Given the description of an element on the screen output the (x, y) to click on. 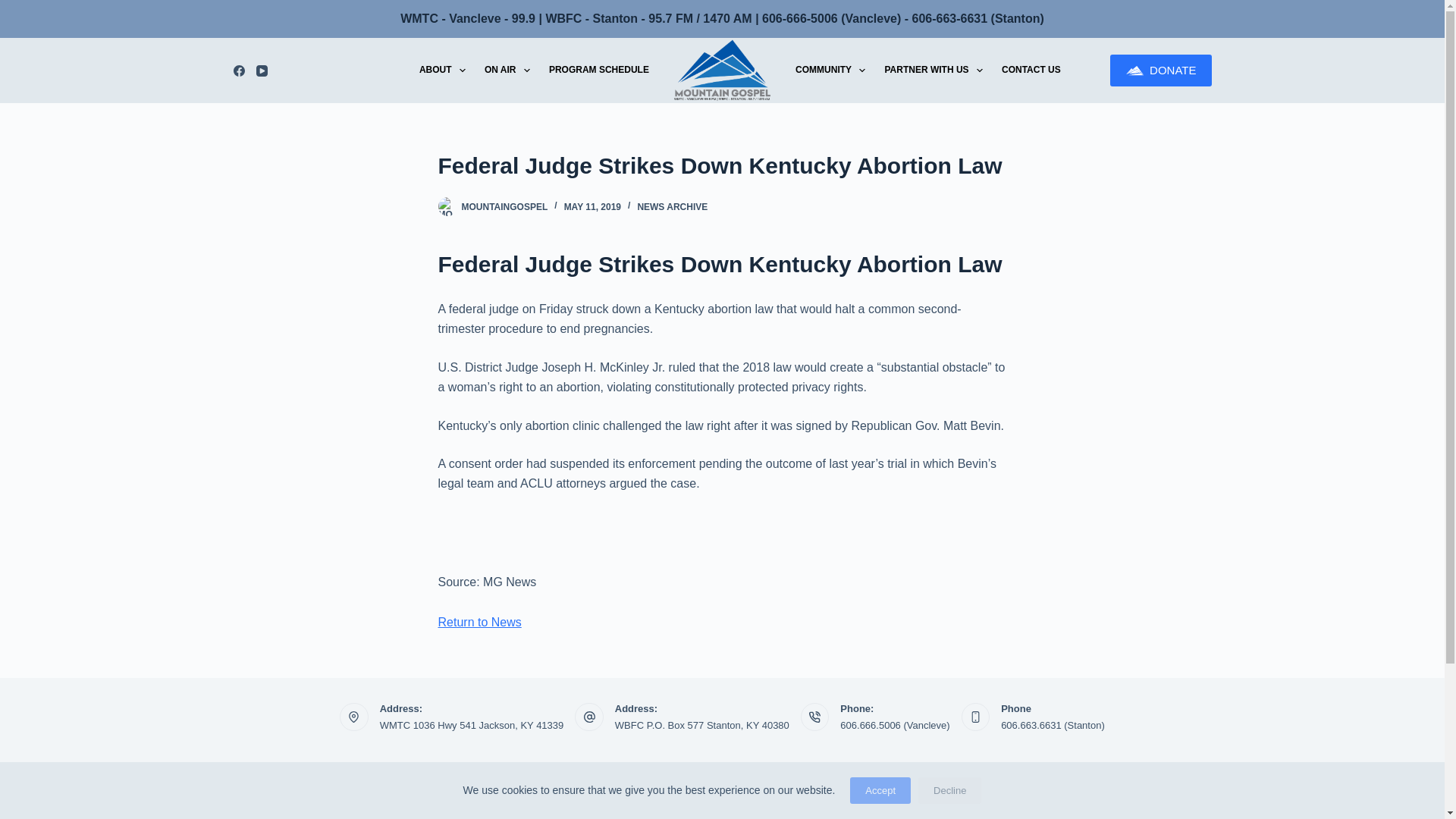
ABOUT (441, 70)
Return to News (479, 621)
PROGRAM SCHEDULE (598, 70)
Federal Judge Strikes Down Kentucky Abortion Law (722, 165)
DONATE (1160, 70)
COMMUNITY (830, 70)
PARTNER WITH US (933, 70)
NEWS ARCHIVE (672, 206)
Accept (880, 790)
Decline (949, 790)
